Given the description of an element on the screen output the (x, y) to click on. 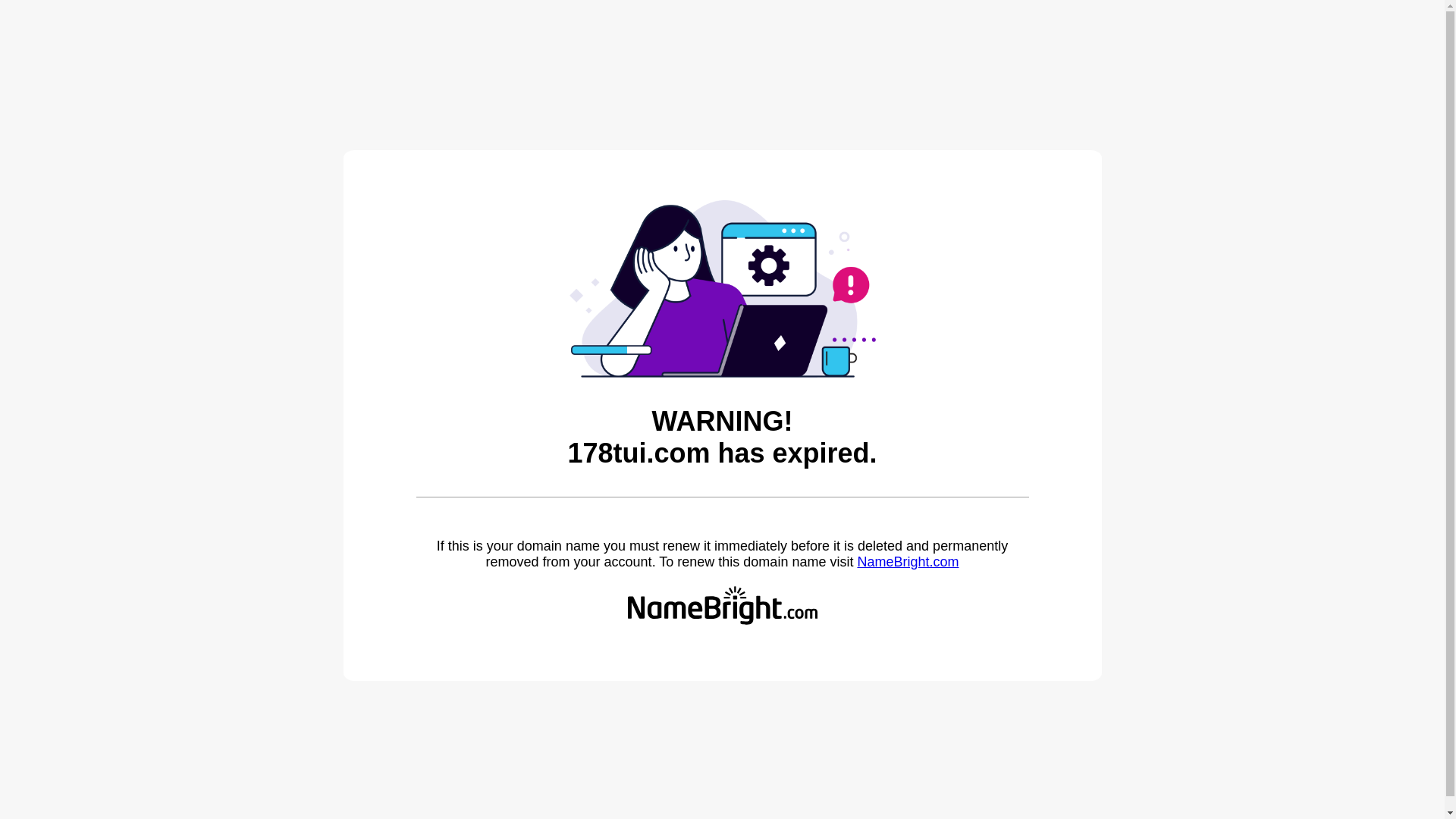
NameBright.com Element type: text (907, 561)
